Given the description of an element on the screen output the (x, y) to click on. 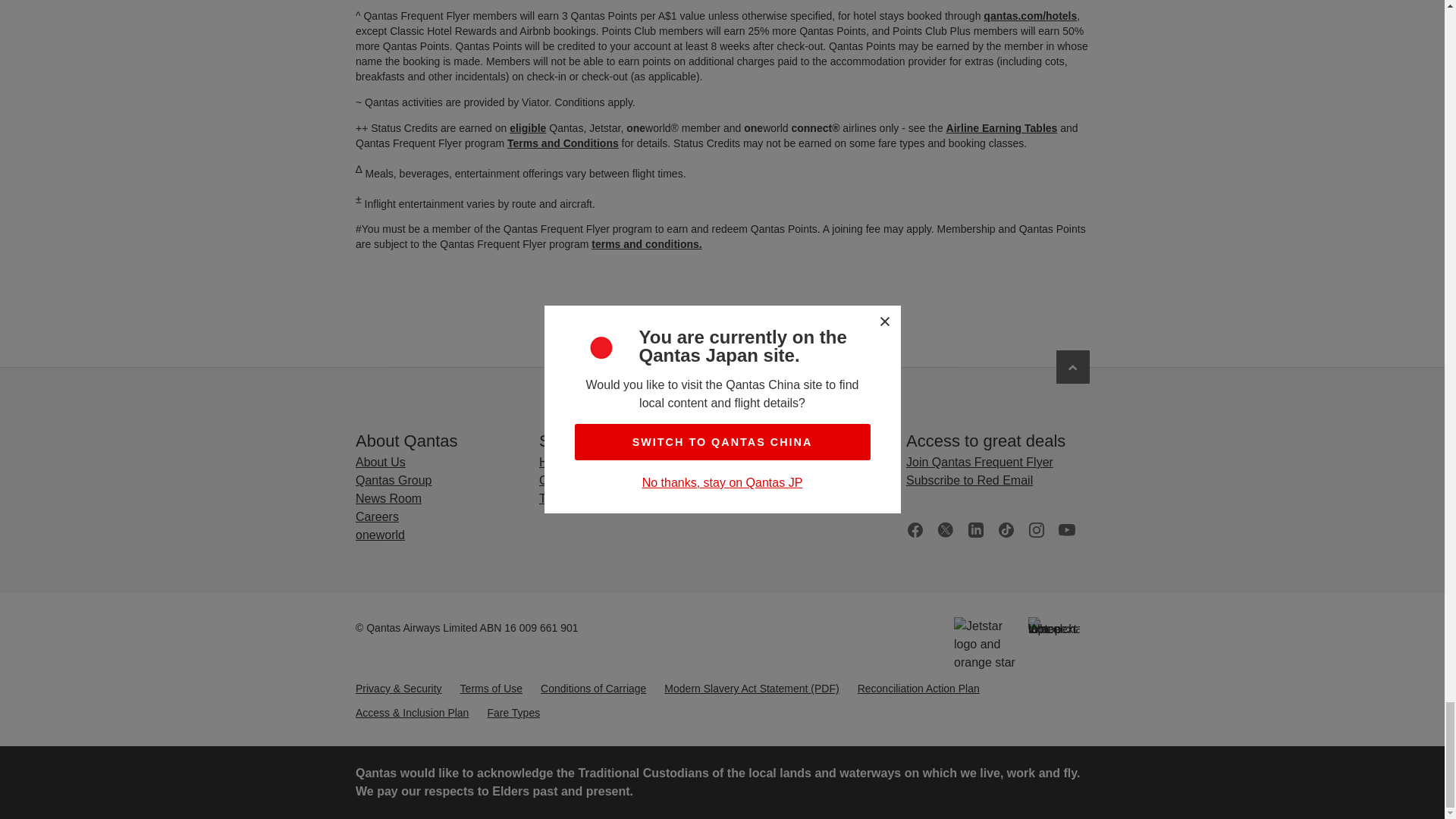
Terms and Conditions (561, 143)
Facebook (914, 529)
Twitter (944, 529)
Airline Earning Tables (1000, 128)
Tiktok (1004, 529)
You tube (1066, 529)
eligible (527, 128)
Instagram (1035, 529)
Linkedin (975, 529)
